Given the description of an element on the screen output the (x, y) to click on. 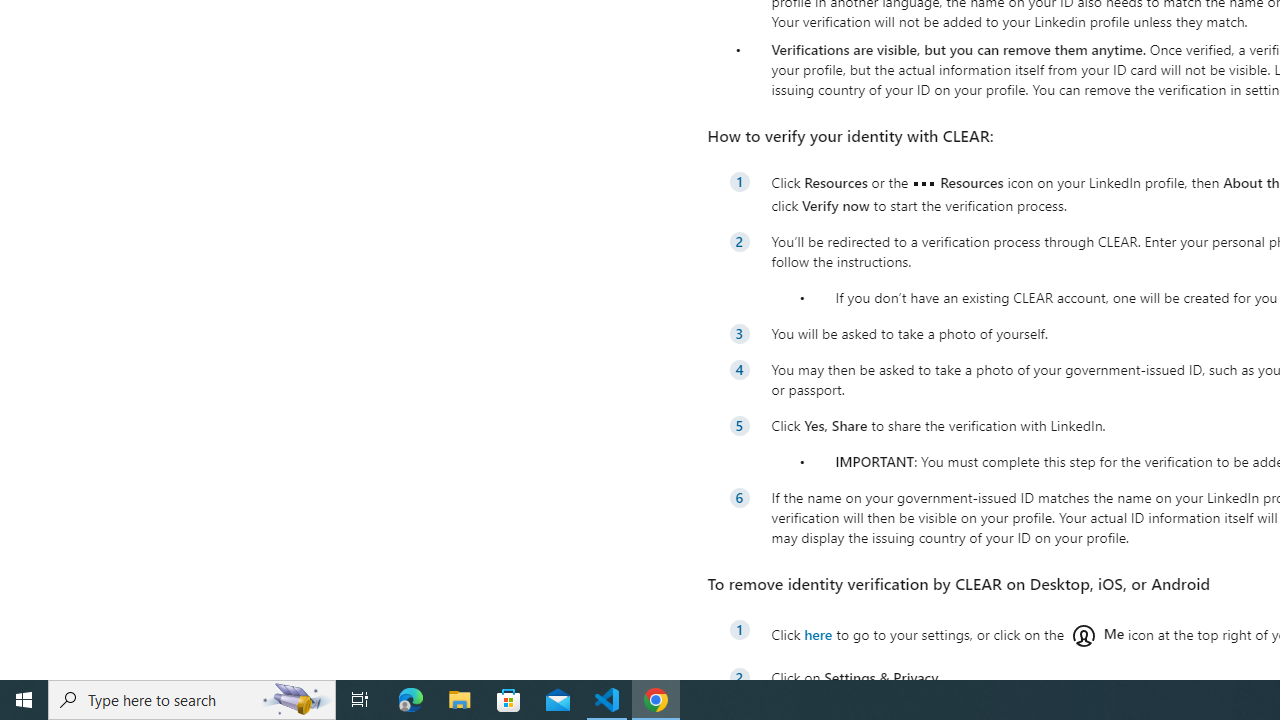
here (818, 633)
